Given the description of an element on the screen output the (x, y) to click on. 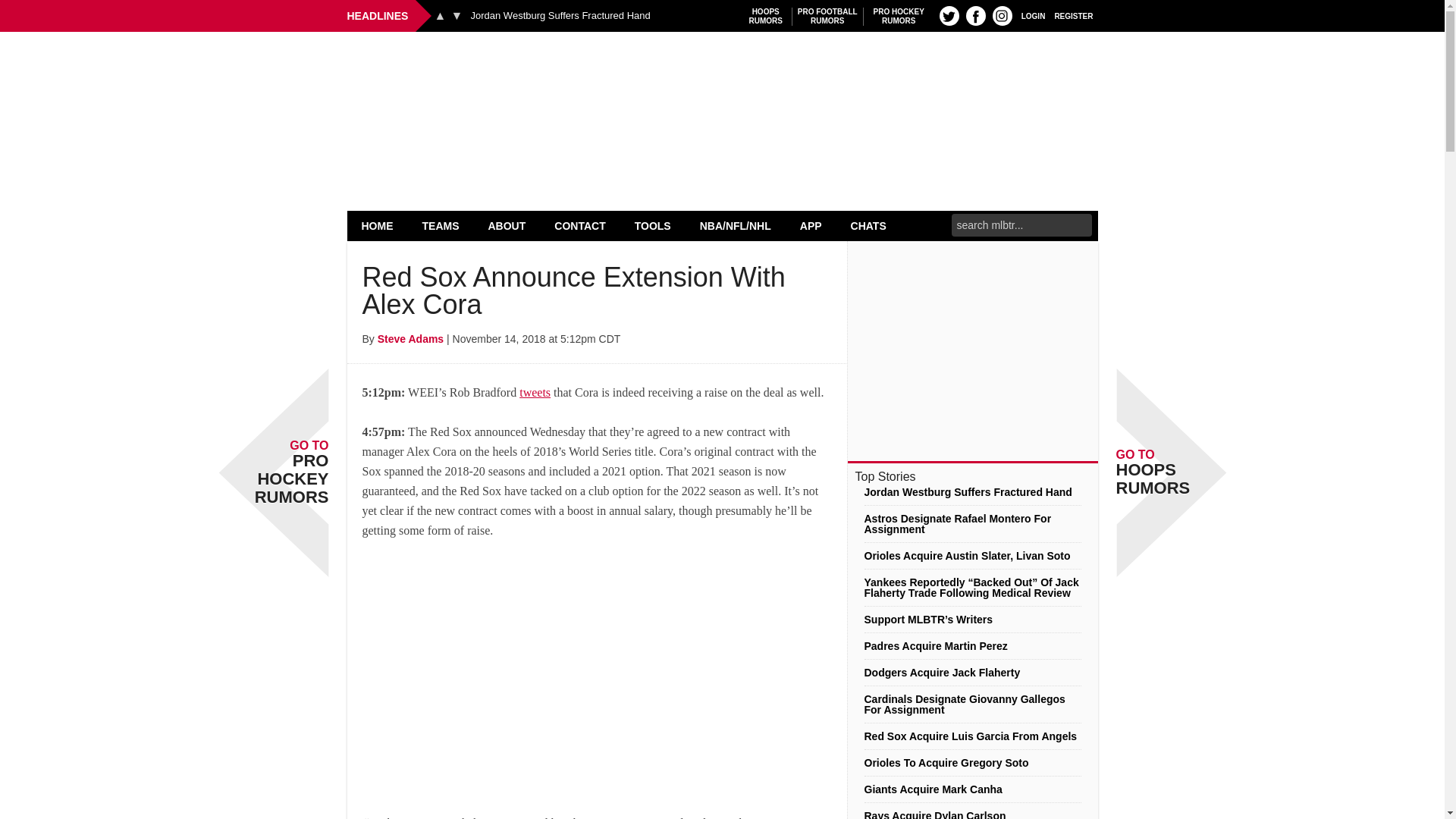
MLB Trade Rumors (898, 16)
Twitter profile (722, 69)
HOME (949, 15)
TEAMS (377, 225)
Search (440, 225)
Next (765, 16)
Instagram profile (975, 15)
LOGIN (456, 15)
Previous (1001, 15)
Jordan Westburg Suffers Fractured Hand (1032, 15)
REGISTER (439, 15)
